Given the description of an element on the screen output the (x, y) to click on. 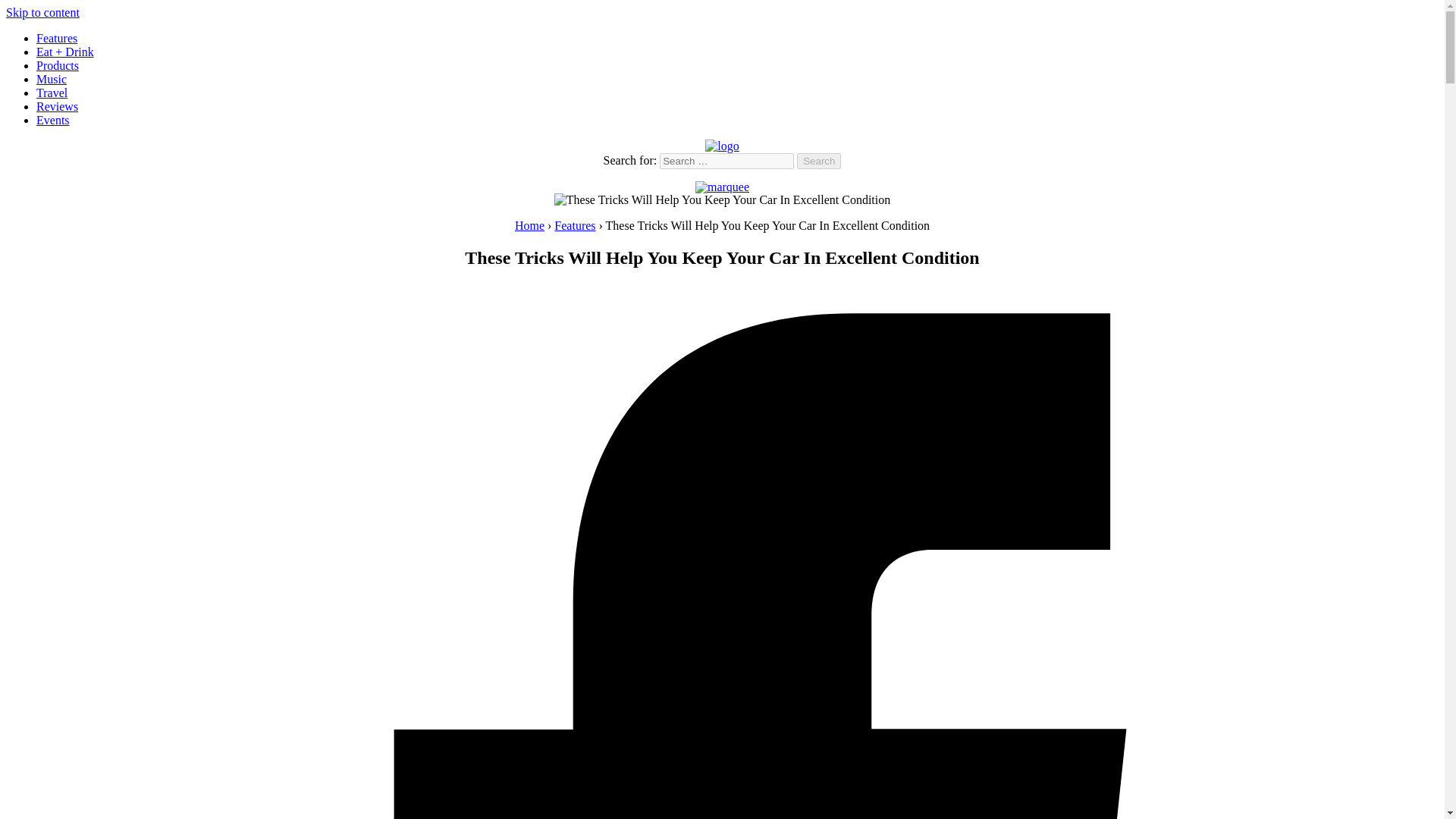
Travel (51, 92)
Features (574, 225)
Events (52, 119)
Products (57, 65)
Home (529, 225)
Reviews (57, 106)
Skip to content (42, 11)
Features (56, 38)
Music (51, 78)
Search (818, 160)
